Given the description of an element on the screen output the (x, y) to click on. 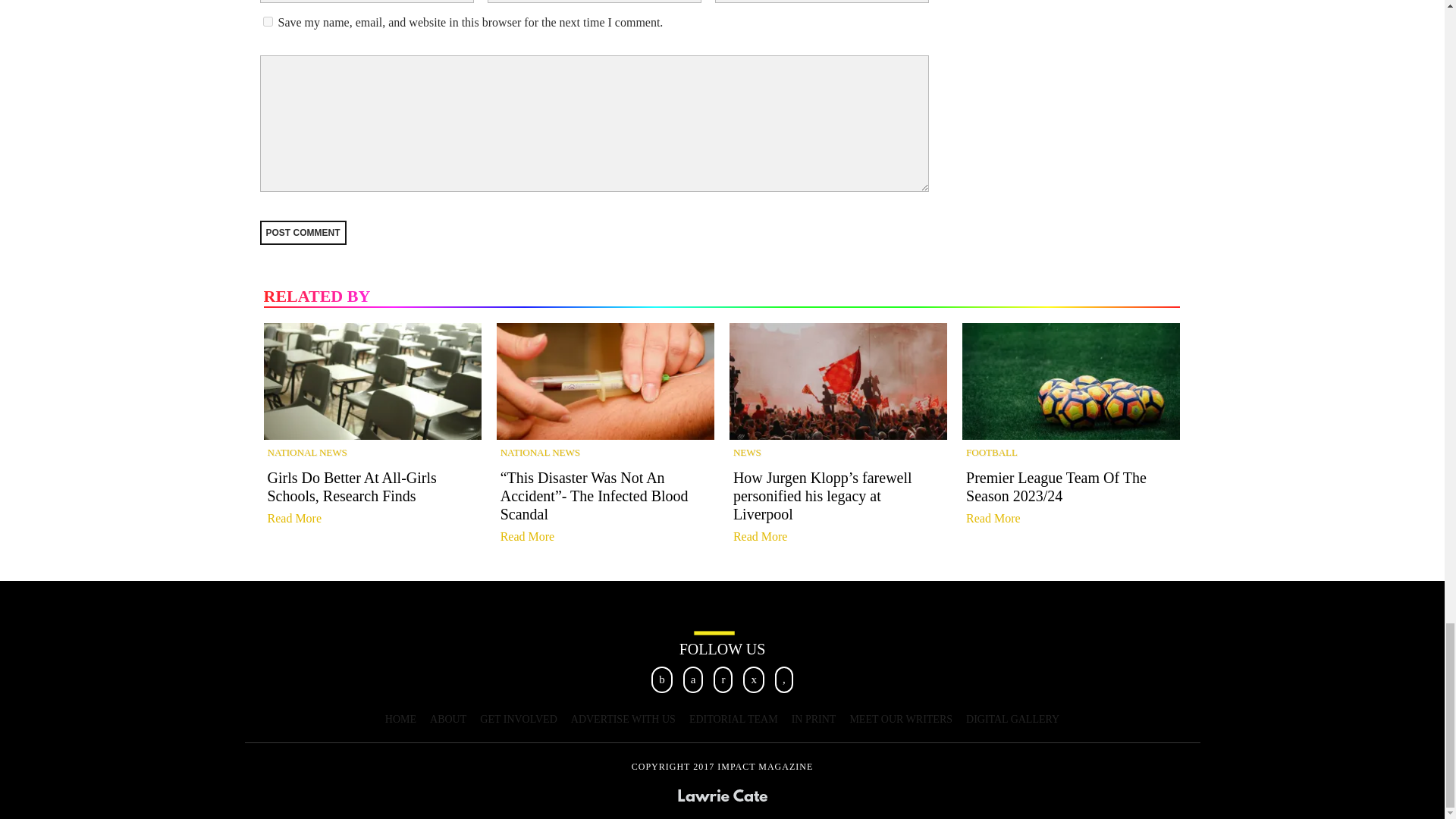
yes (267, 21)
Post comment (302, 232)
